Given the description of an element on the screen output the (x, y) to click on. 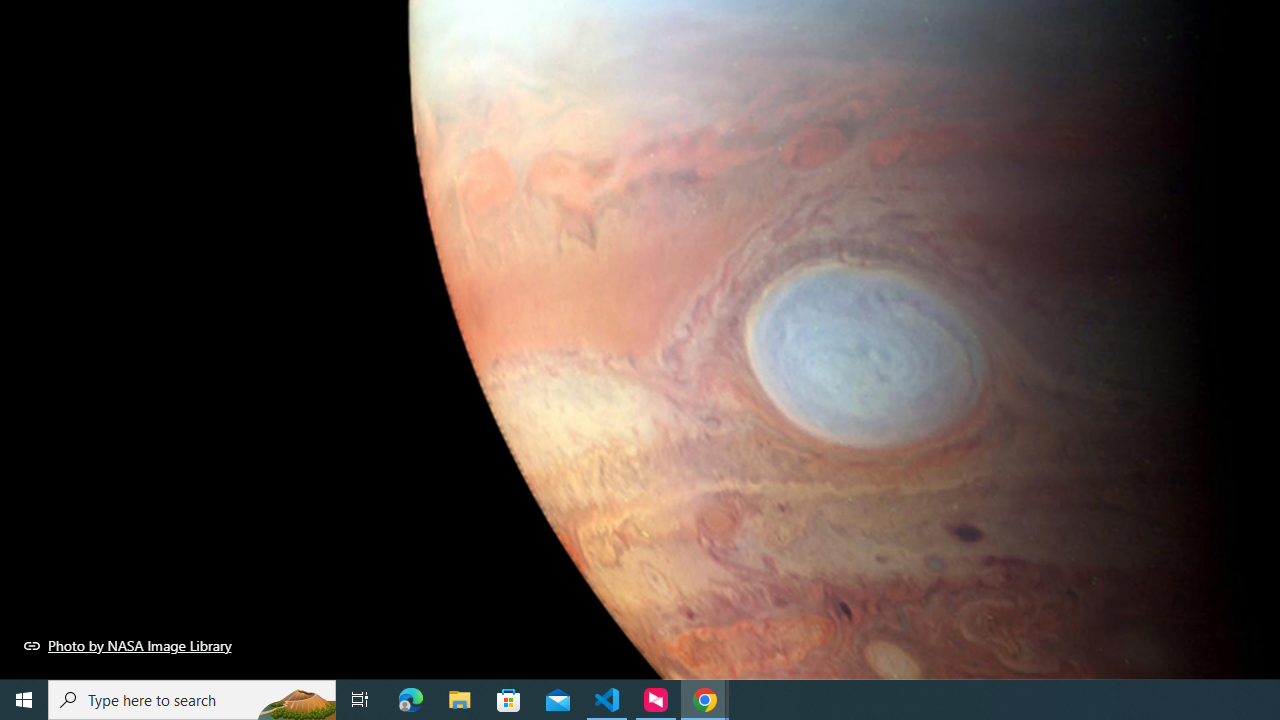
Photo by NASA Image Library (127, 645)
